Given the description of an element on the screen output the (x, y) to click on. 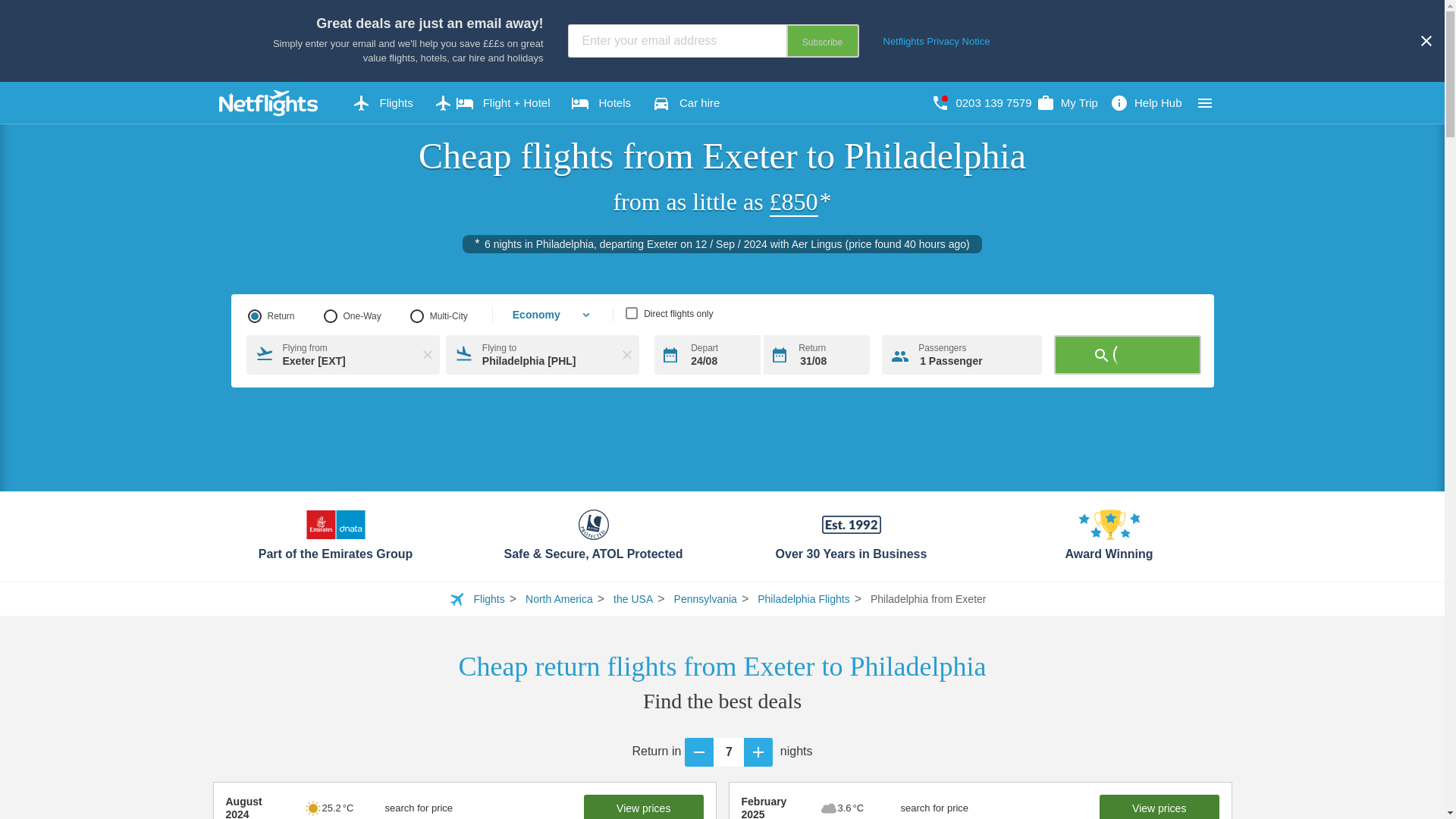
North America (558, 598)
Netflights Privacy Notice (936, 41)
My Trip (1066, 102)
Car hire (685, 102)
Subscribe (822, 40)
Hotels (600, 102)
Hotels (600, 102)
1 Passenger (962, 354)
Flights (382, 102)
Car hire (685, 102)
